Given the description of an element on the screen output the (x, y) to click on. 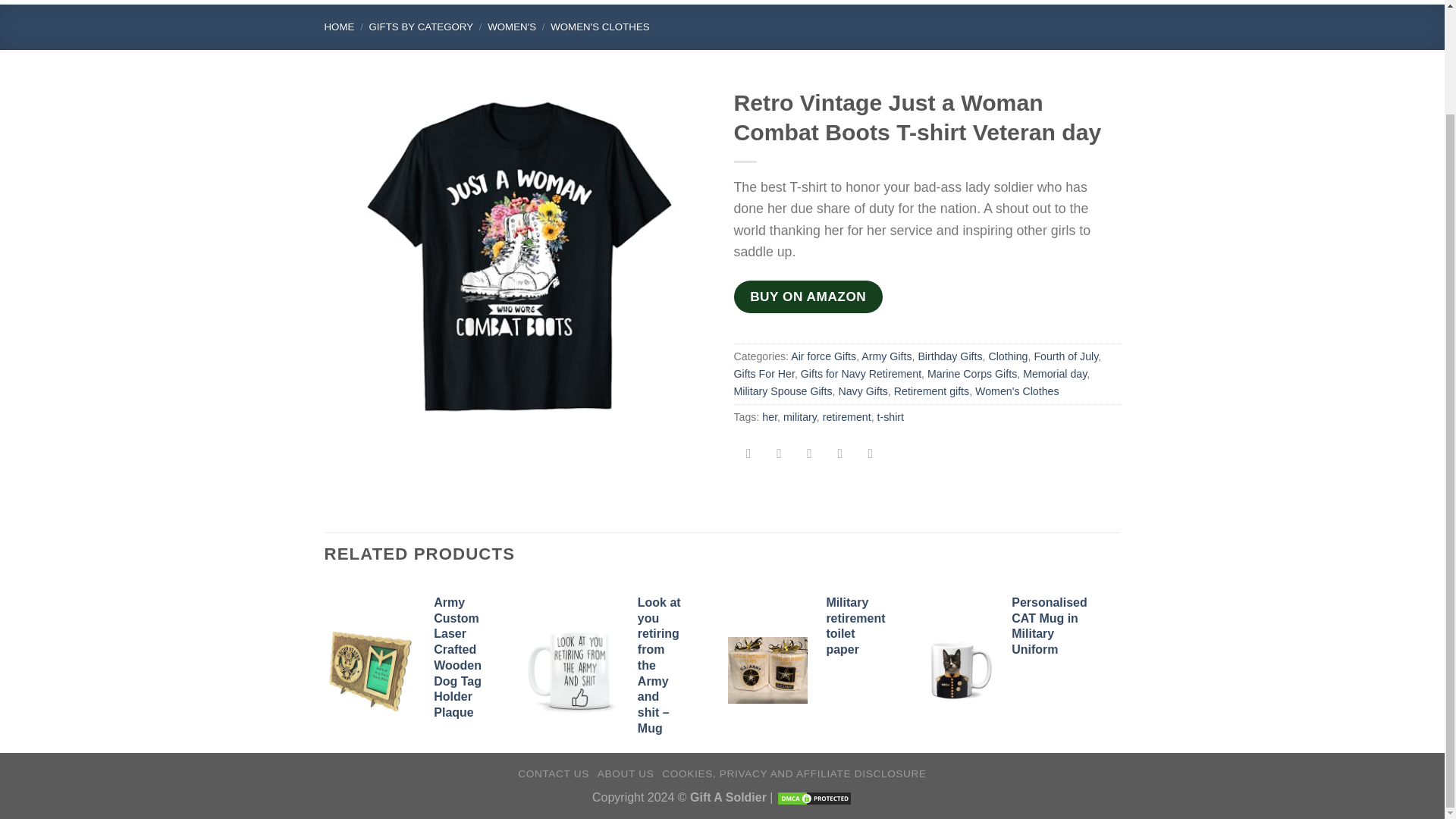
GIFTS BY RECIPIENT (768, 2)
Look at you retiring from the Army and shit - Mug (572, 669)
Army Custom Laser Crafted Wooden Dog Tag Holder Plaque (368, 670)
Military retirement toilet paper (768, 670)
GIFTS BY BRANCH (437, 2)
GIFTS BY OCCASION (599, 2)
DMCA.com Protection Status (813, 797)
